Given the description of an element on the screen output the (x, y) to click on. 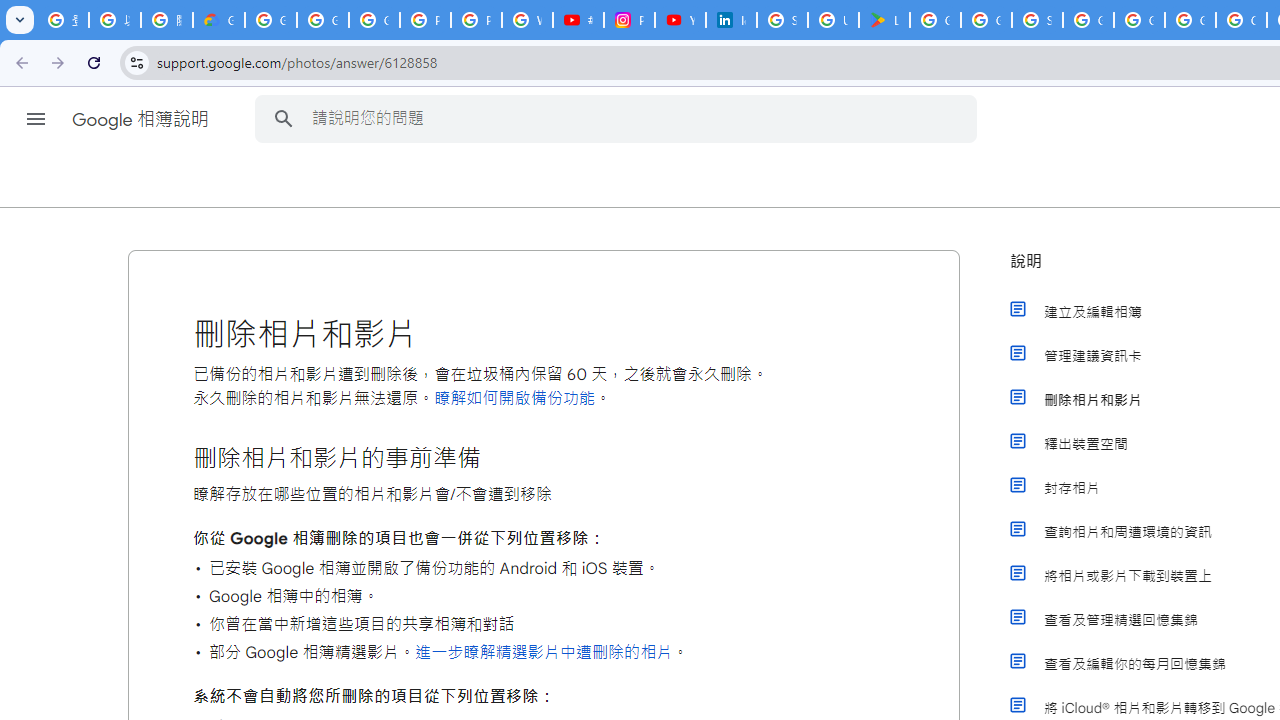
Sign in - Google Accounts (1037, 20)
Privacy Help Center - Policies Help (475, 20)
Last Shelter: Survival - Apps on Google Play (884, 20)
